Given the description of an element on the screen output the (x, y) to click on. 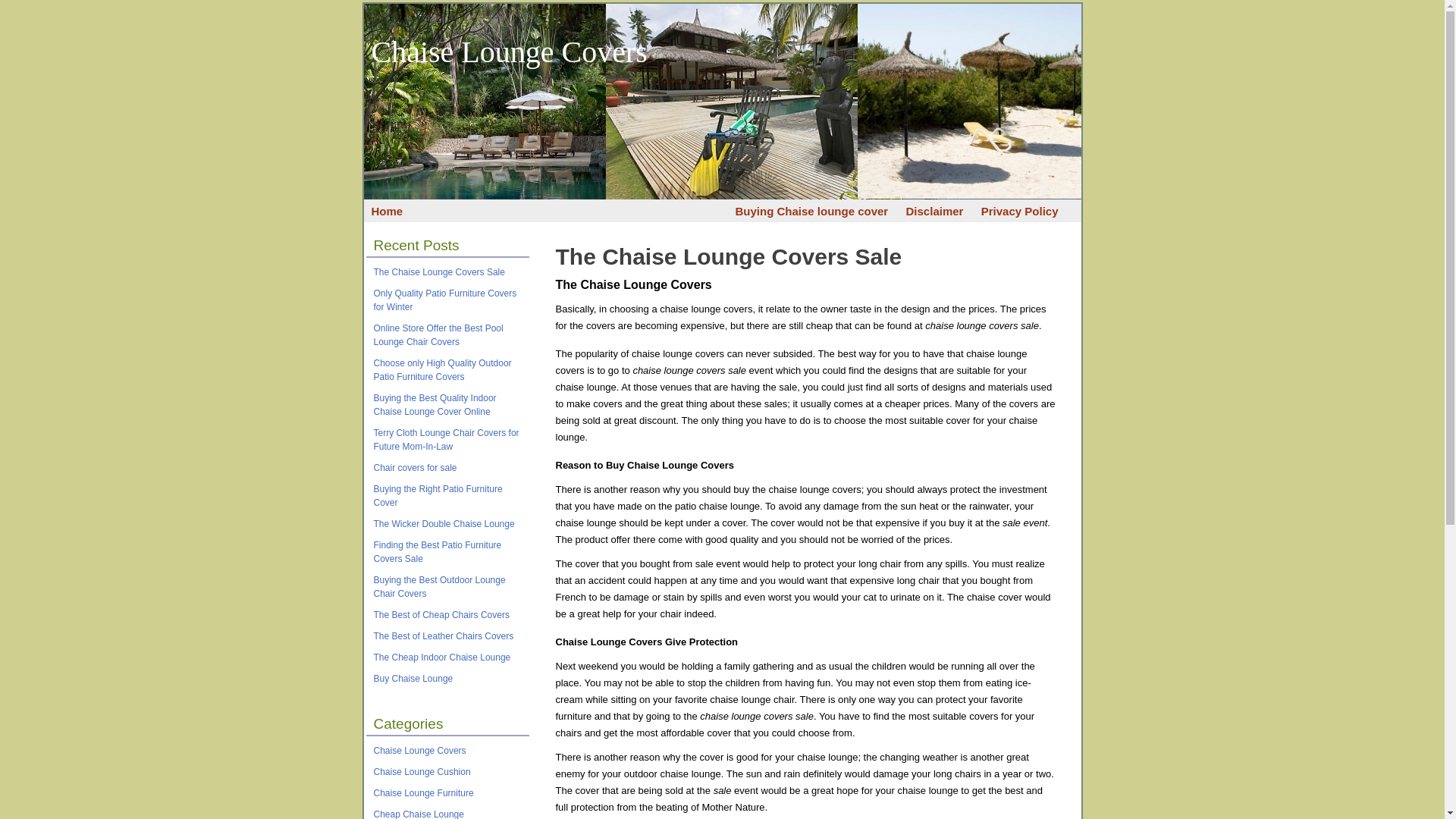
Finding the Best Patio Furniture Covers Sale (436, 551)
Chaise Lounge Covers (509, 51)
The Wicker Double Chaise Lounge (442, 523)
Terry Cloth Lounge Chair Covers for Future Mom-In-Law (445, 439)
Buying the Right Patio Furniture Cover (437, 495)
Chaise Lounge Covers (418, 750)
The Best of Leather Chairs Covers (442, 635)
The Chaise Lounge Covers Sale (727, 256)
The Chaise Lounge Covers Sale (727, 256)
Only Quality Patio Furniture Covers for Winter (444, 300)
Buying Chaise lounge cover (811, 210)
Chair covers for sale (414, 467)
Disclaimer (934, 210)
Online Store Offer the Best Pool Lounge Chair Covers (437, 334)
The Chaise Lounge Covers Sale (437, 271)
